Given the description of an element on the screen output the (x, y) to click on. 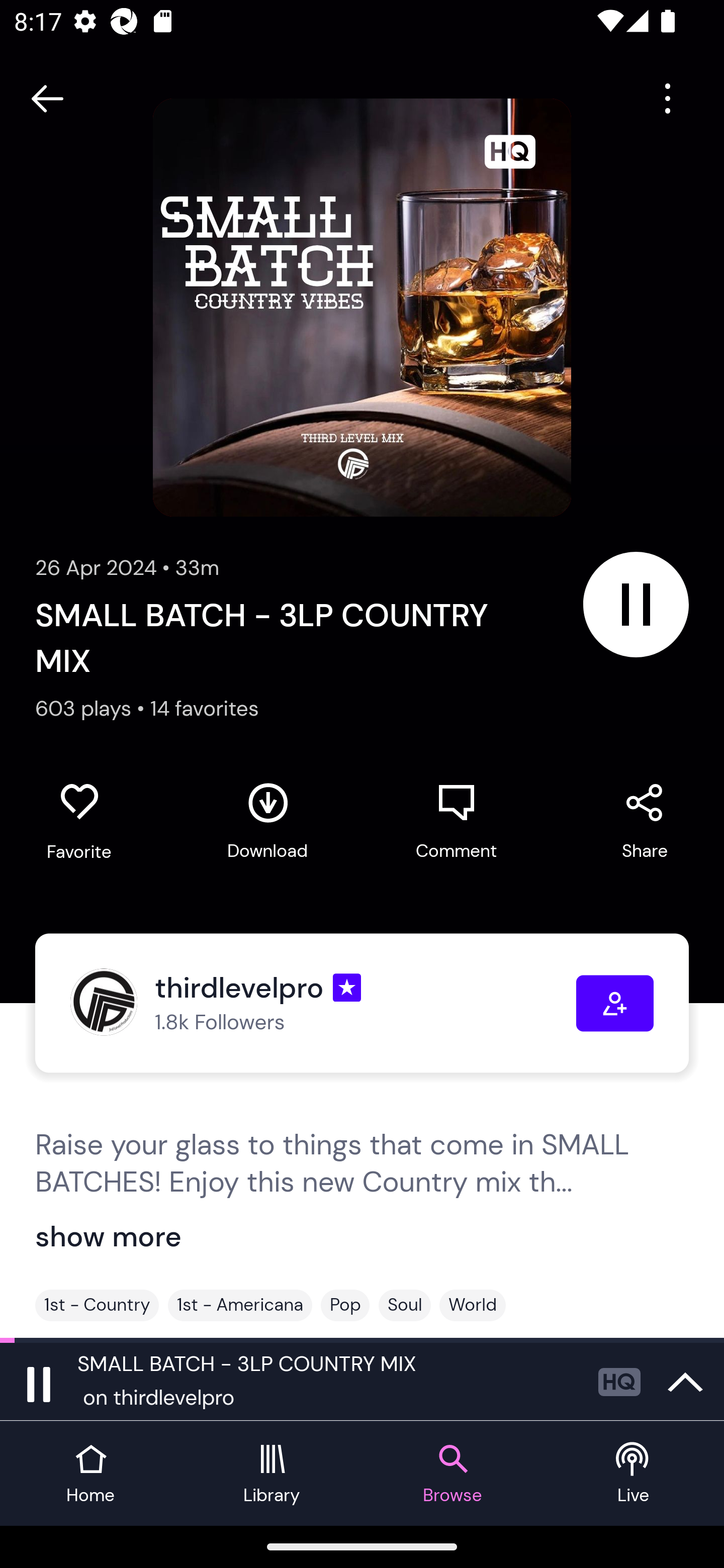
14 favorites (204, 708)
Favorite (79, 821)
Download (267, 821)
Comment (455, 821)
Share (644, 821)
Follow (614, 1003)
1st - Country (96, 1304)
1st - Americana (239, 1304)
Pop (344, 1304)
Soul (404, 1304)
World (472, 1304)
Home tab Home (90, 1473)
Library tab Library (271, 1473)
Browse tab Browse (452, 1473)
Live tab Live (633, 1473)
